Given the description of an element on the screen output the (x, y) to click on. 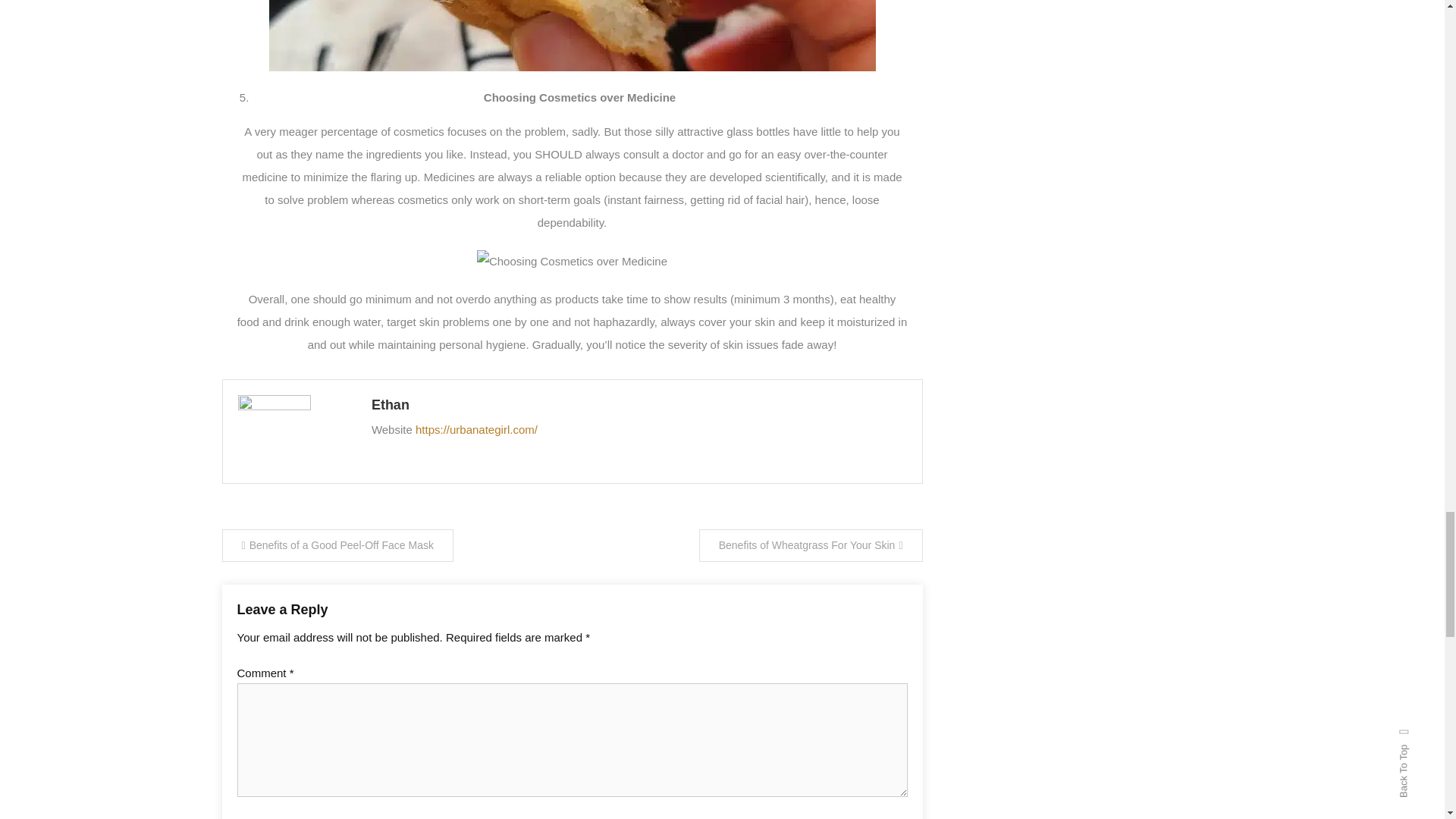
Posts by Ethan (639, 404)
Ethan (639, 404)
Benefits of Wheatgrass For Your Skin (810, 545)
Benefits of a Good Peel-Off Face Mask (336, 545)
